Given the description of an element on the screen output the (x, y) to click on. 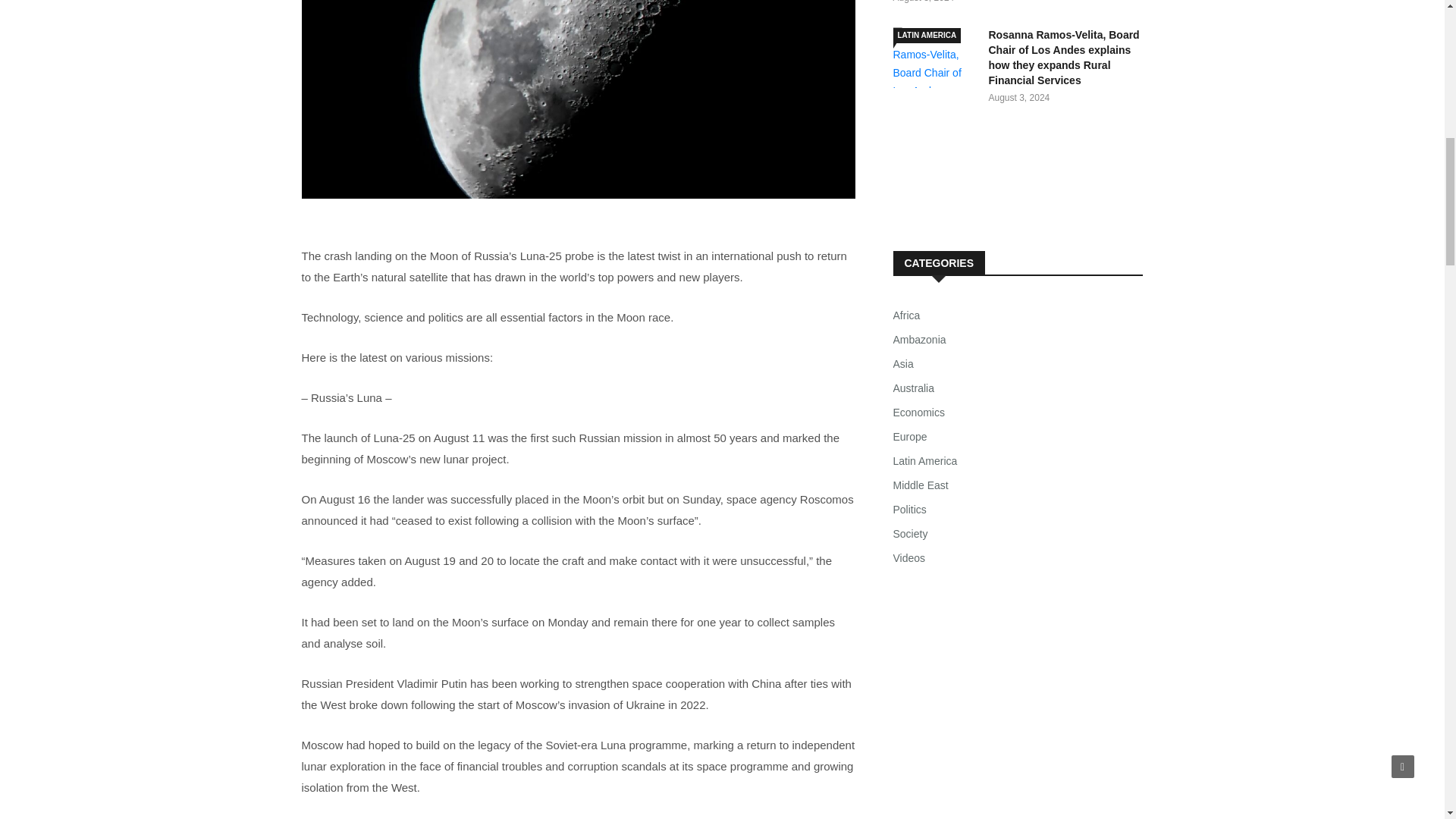
One giant step: Moon race heats up (578, 99)
